Given the description of an element on the screen output the (x, y) to click on. 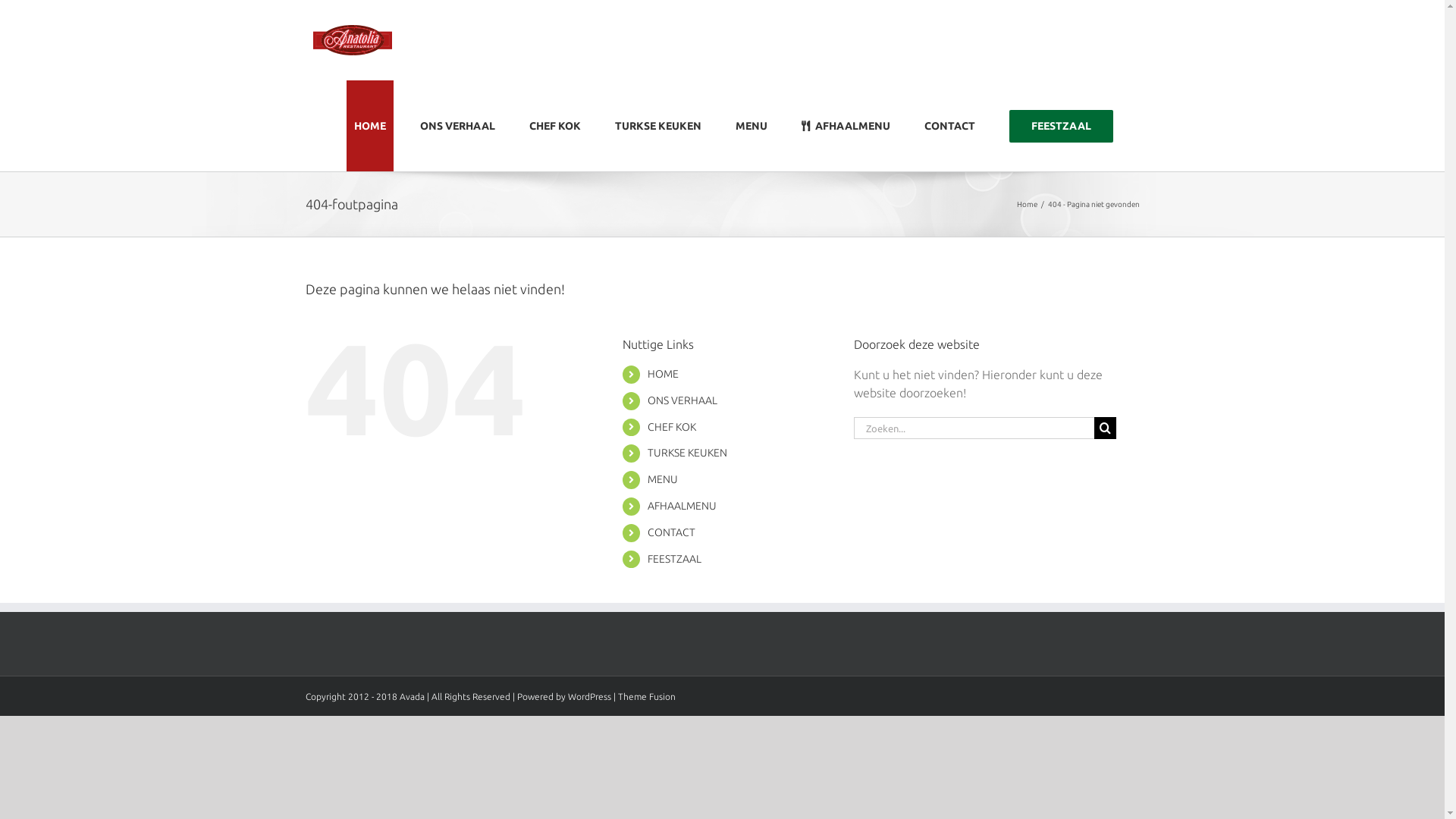
TURKSE KEUKEN Element type: text (657, 125)
Home Element type: text (1026, 204)
ONS VERHAAL Element type: text (682, 400)
CHEF KOK Element type: text (554, 125)
Theme Fusion Element type: text (645, 696)
WordPress Element type: text (588, 696)
AFHAALMENU Element type: text (845, 125)
AFHAALMENU Element type: text (681, 505)
MENU Element type: text (751, 125)
MENU Element type: text (662, 479)
TURKSE KEUKEN Element type: text (687, 452)
HOME Element type: text (368, 125)
CONTACT Element type: text (671, 532)
FEESTZAAL Element type: text (1060, 125)
FEESTZAAL Element type: text (674, 558)
CONTACT Element type: text (949, 125)
ONS VERHAAL Element type: text (457, 125)
HOME Element type: text (662, 373)
CHEF KOK Element type: text (671, 426)
